Given the description of an element on the screen output the (x, y) to click on. 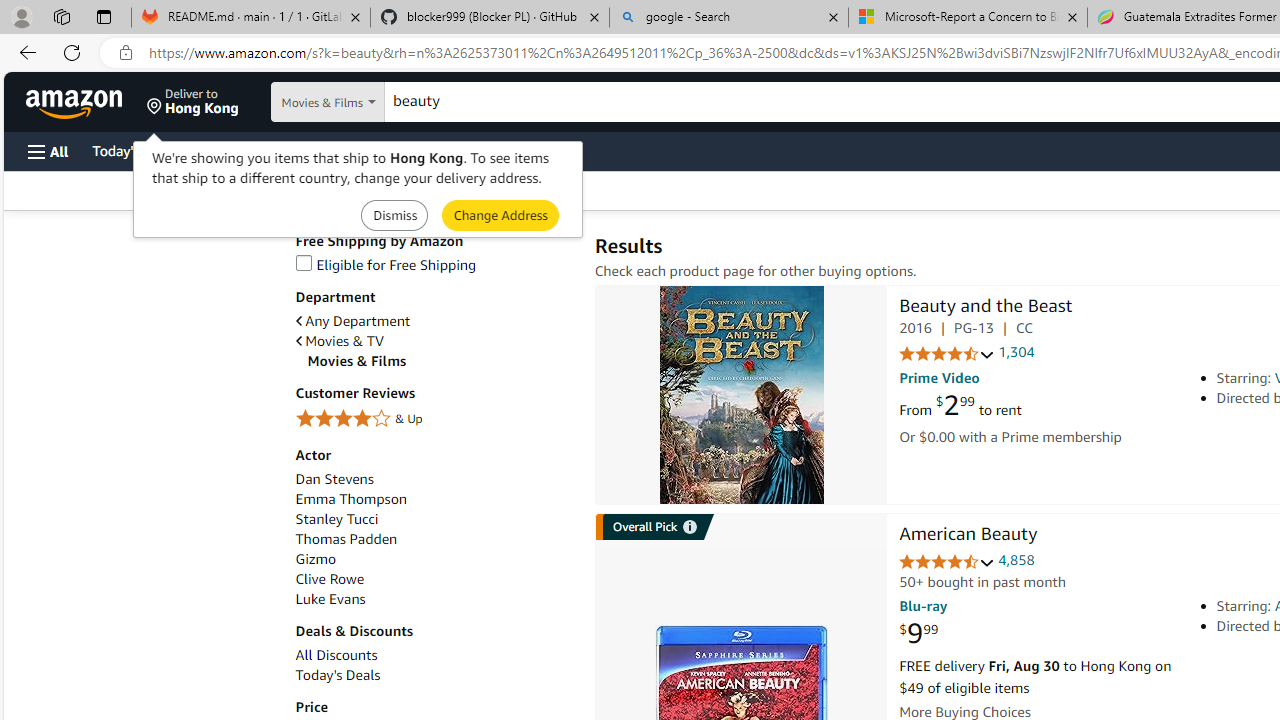
Eligible for Free Shipping (434, 265)
From $2.99 to rent (959, 406)
Stanley Tucci (434, 519)
Dan Stevens (434, 479)
Luke Evans (434, 599)
All Discounts (335, 655)
$9.99 (918, 634)
Gizmo (434, 559)
Luke Evans (330, 599)
